Given the description of an element on the screen output the (x, y) to click on. 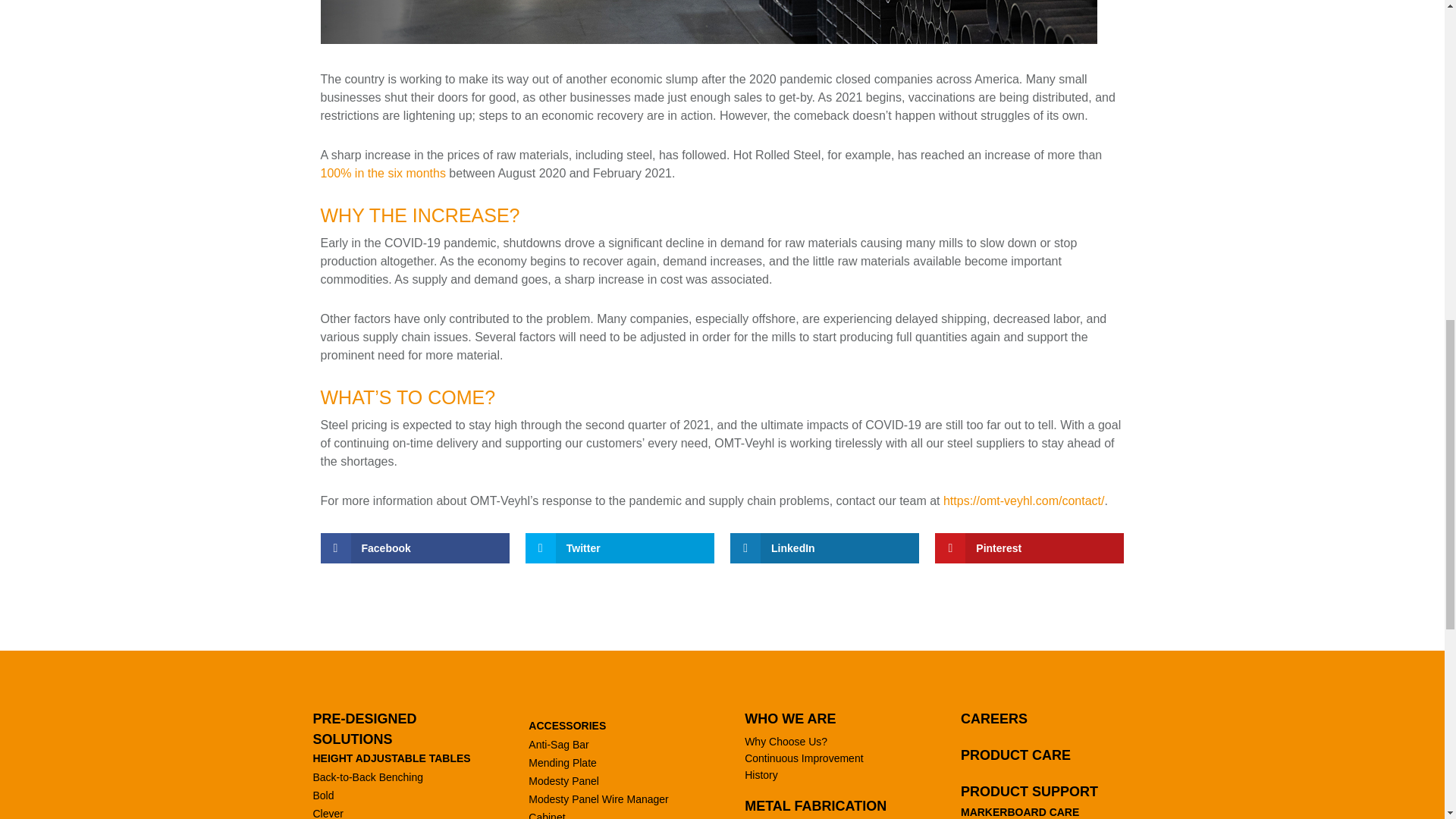
Twitter (619, 548)
Facebook (414, 548)
Pinterest (1029, 548)
LinkedIn (824, 548)
